Given the description of an element on the screen output the (x, y) to click on. 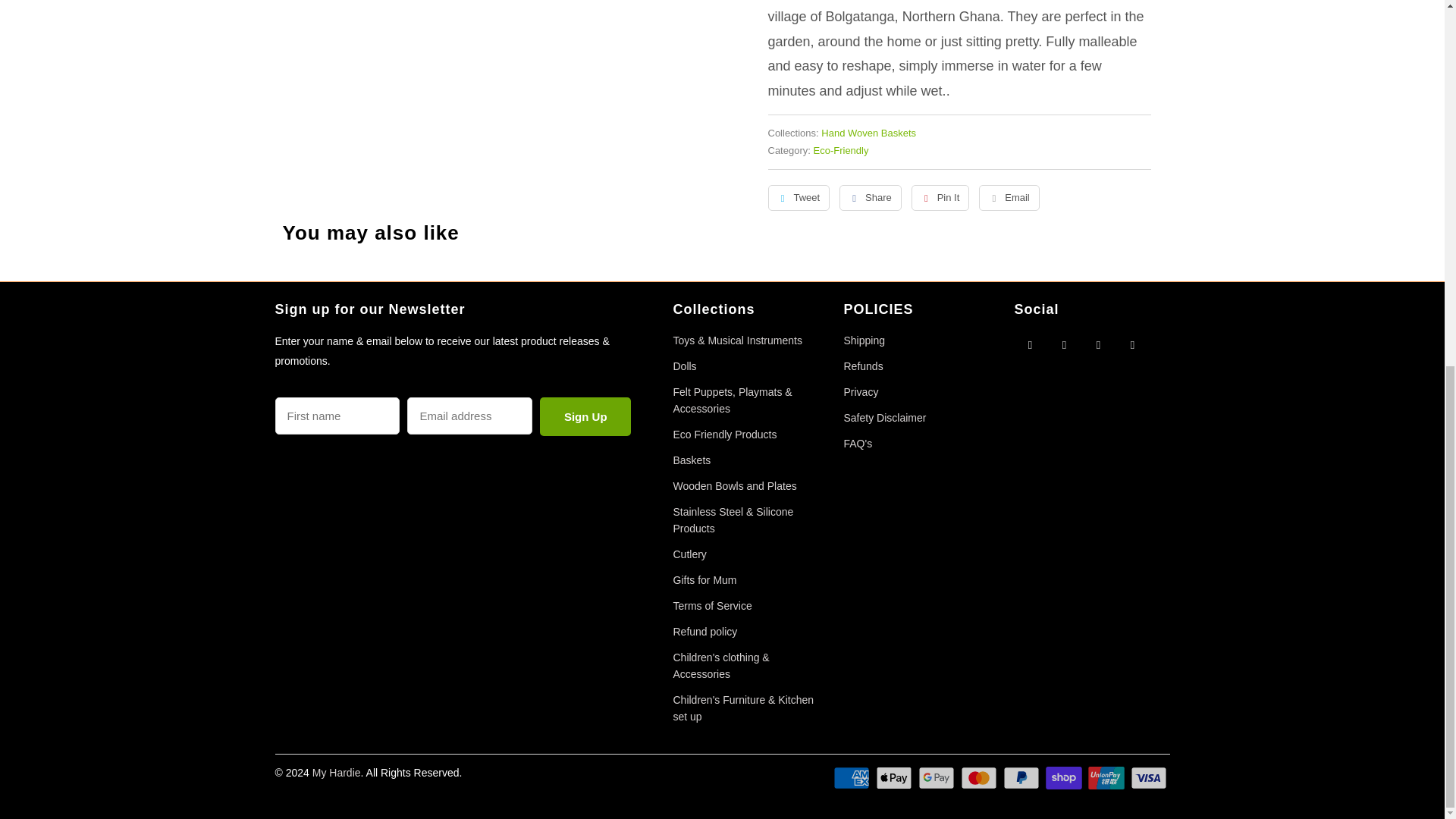
Sign Up (585, 416)
Apple Pay (895, 777)
Share this on Facebook (870, 197)
My Hardie on Instagram (1097, 344)
Email My Hardie (1132, 344)
Share this on Pinterest (940, 197)
Hand Woven Baskets (868, 132)
Union Pay (1106, 777)
American Express (852, 777)
Visa (1149, 777)
